Given the description of an element on the screen output the (x, y) to click on. 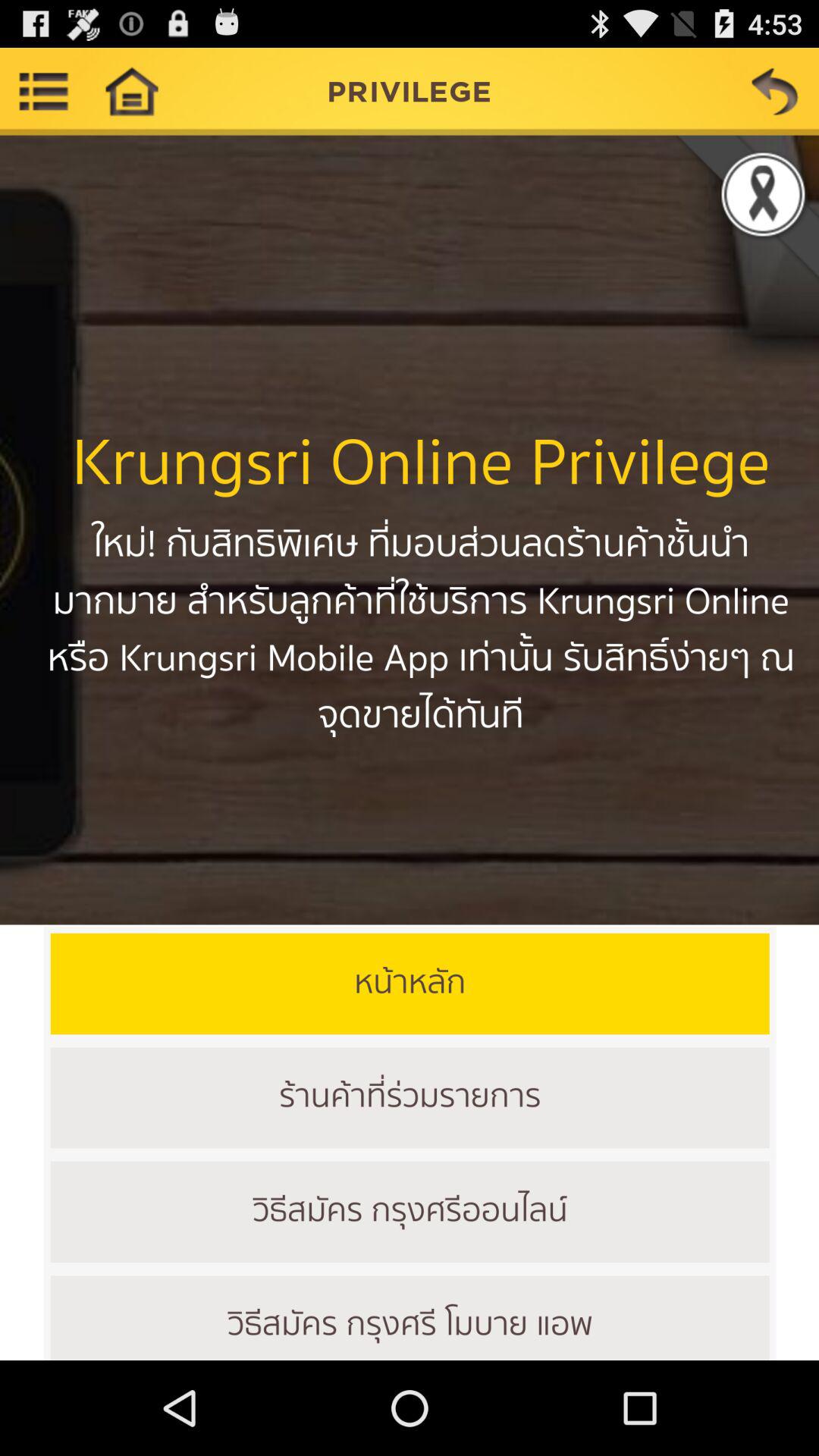
home page (131, 91)
